Given the description of an element on the screen output the (x, y) to click on. 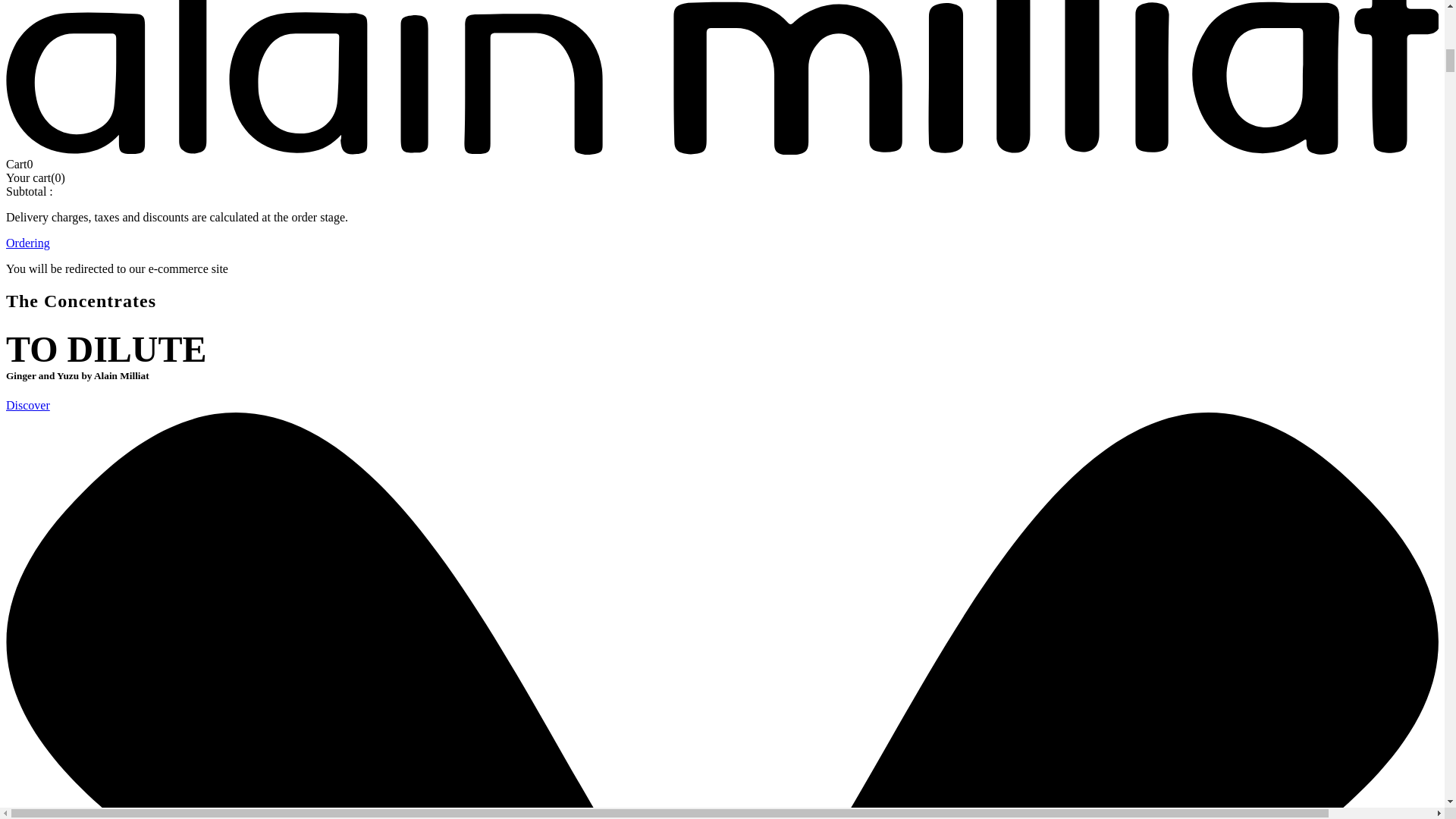
Ordering (27, 242)
Cart0 (19, 164)
View my cart (19, 164)
Discover (27, 404)
